Given the description of an element on the screen output the (x, y) to click on. 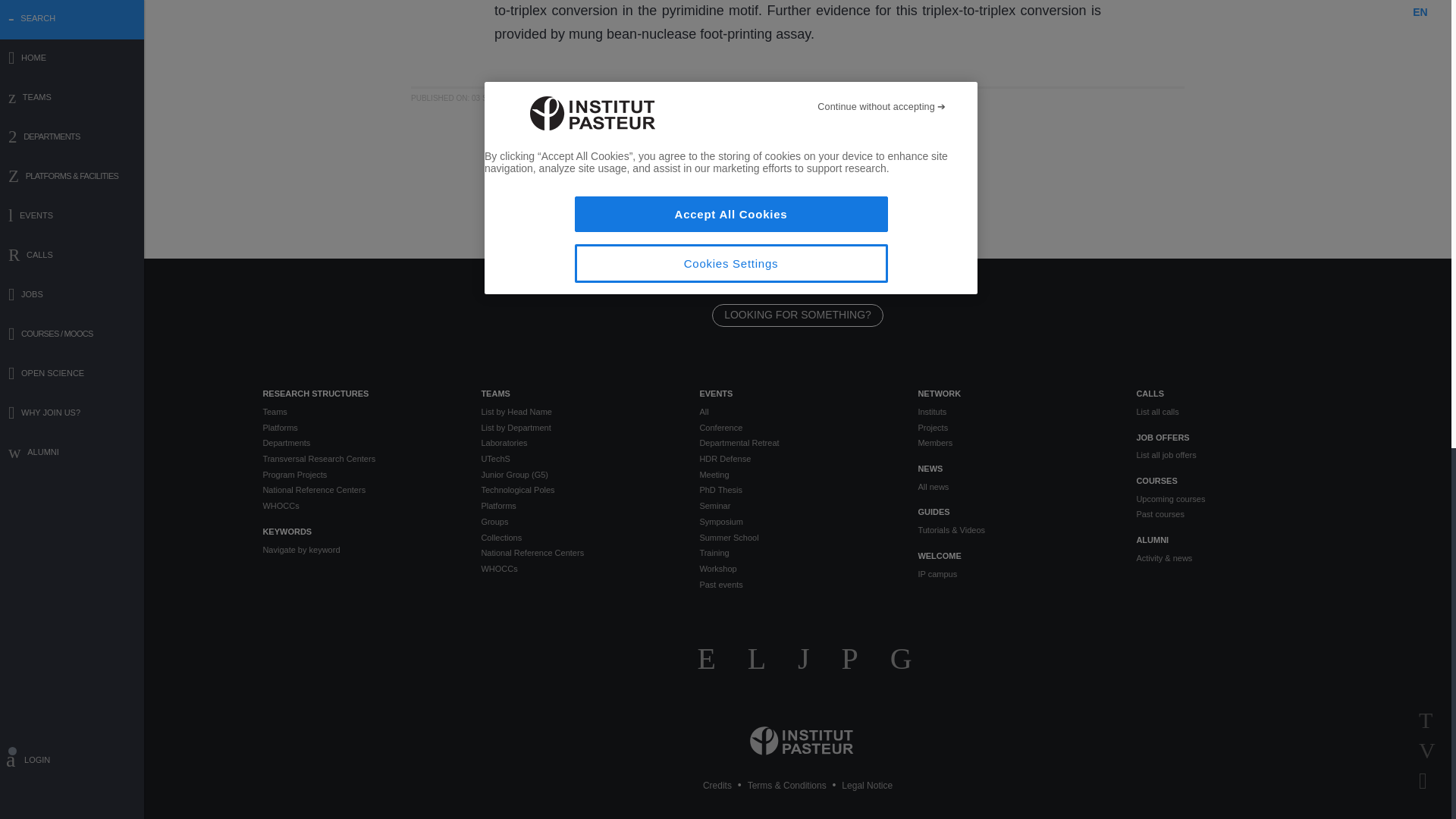
Teams (360, 411)
Departments (360, 442)
Platforms (360, 427)
